Given the description of an element on the screen output the (x, y) to click on. 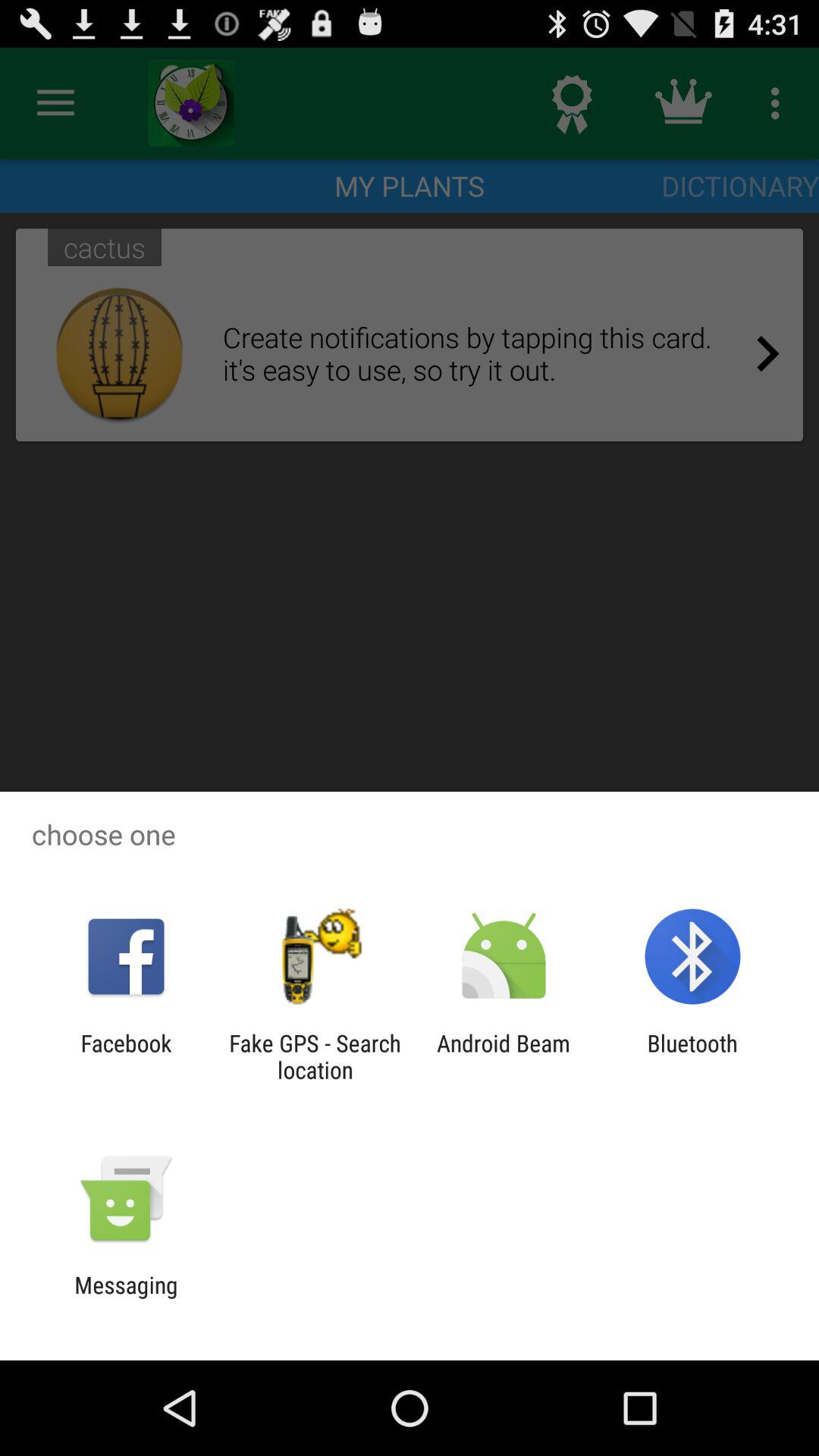
open app next to the android beam item (314, 1056)
